Given the description of an element on the screen output the (x, y) to click on. 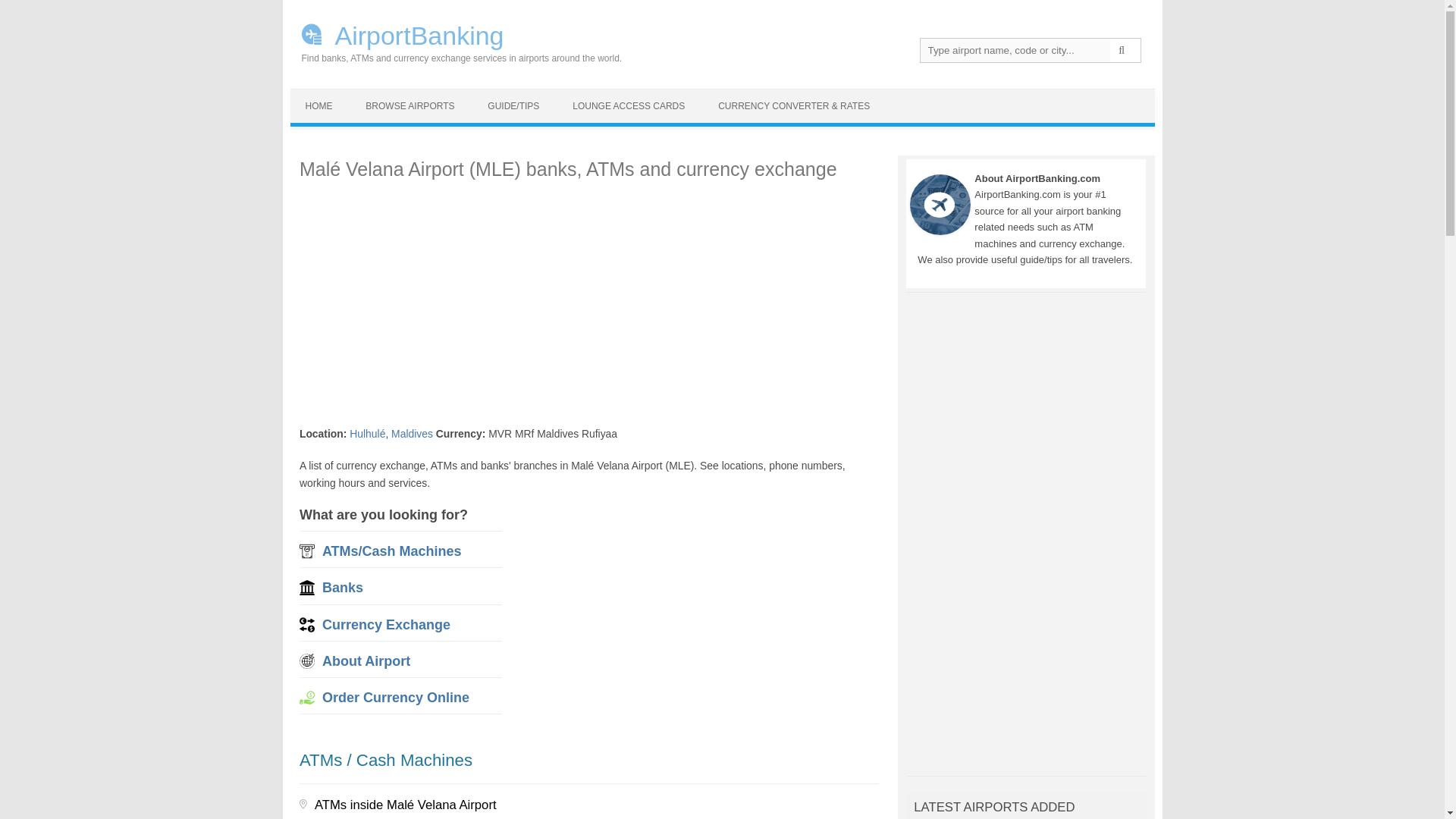
Order Currency Online (394, 697)
LOUNGE ACCESS CARDS (628, 105)
AirportBanking (455, 34)
Maldives (411, 433)
Advertisement (689, 612)
Banks (341, 587)
Currency Exchange (385, 624)
HOME (318, 105)
AirportBanking (455, 34)
BROWSE AIRPORTS (409, 105)
